Given the description of an element on the screen output the (x, y) to click on. 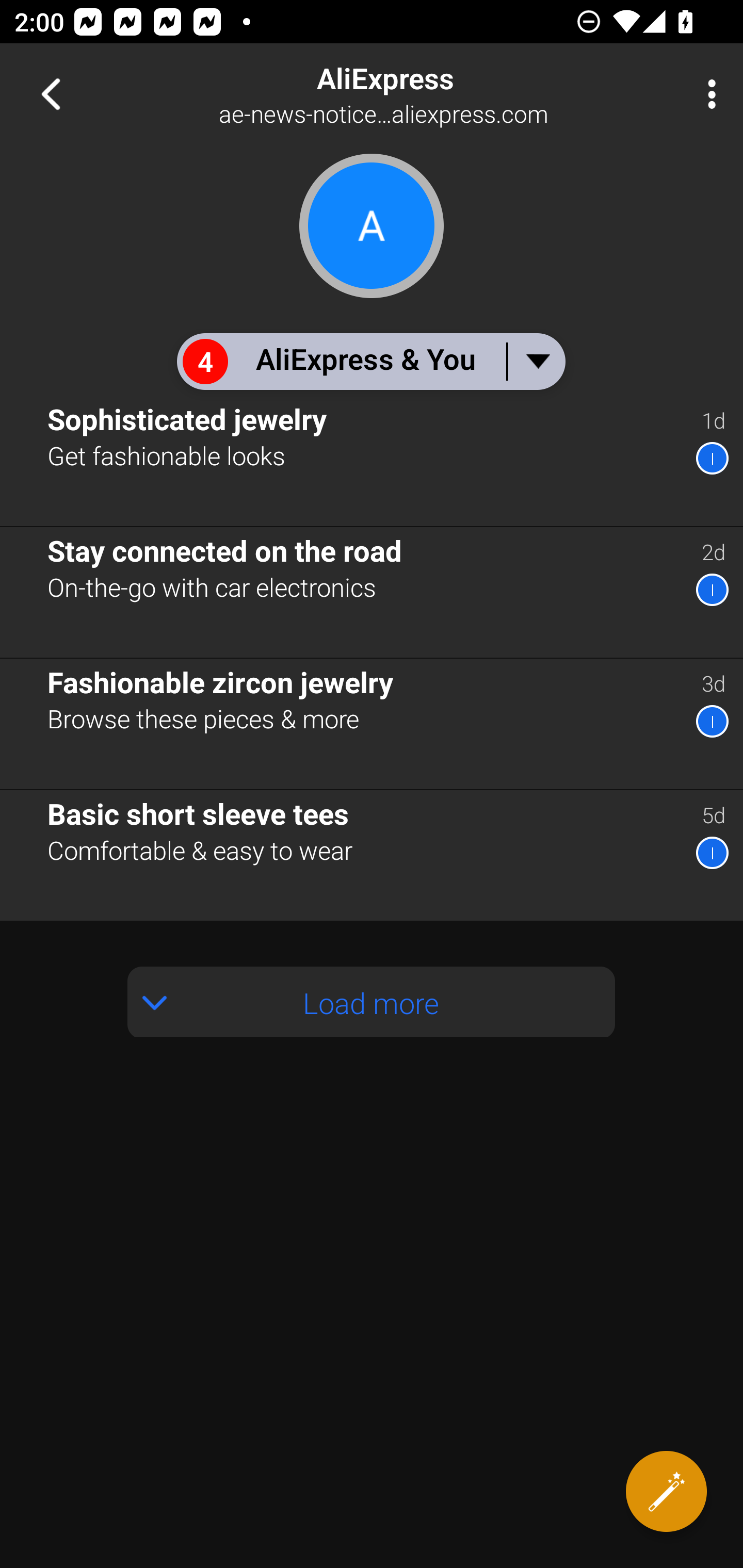
Navigate up (50, 93)
AliExpress ae-news-notice03@mail.aliexpress.com (436, 93)
More Options (706, 93)
4 AliExpress & You (370, 361)
Load more (371, 1001)
